Given the description of an element on the screen output the (x, y) to click on. 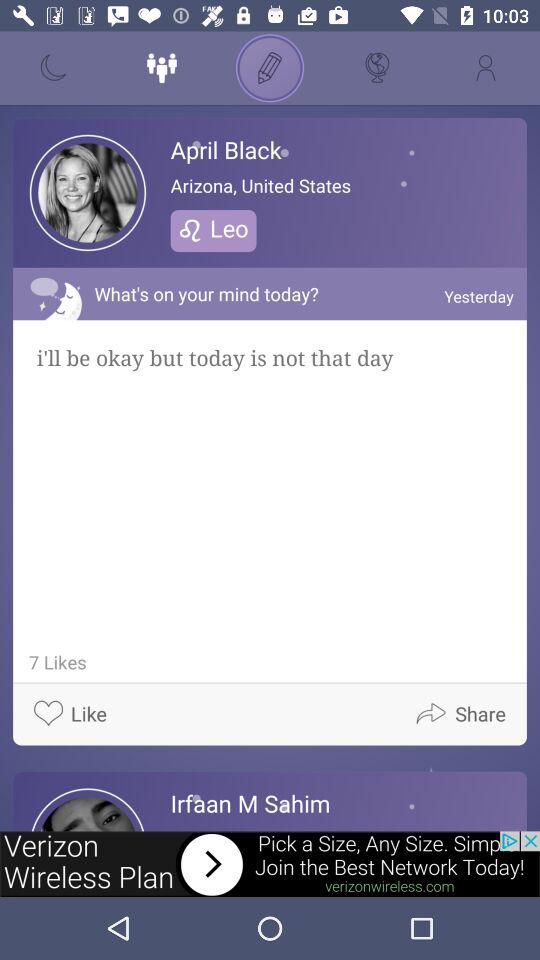
select the image beside irfaan (87, 809)
select the text irfaan m sahim (250, 803)
click on first icon at top left (53, 67)
click on the globe button next to edit button (377, 67)
select on profile icon (485, 67)
